Given the description of an element on the screen output the (x, y) to click on. 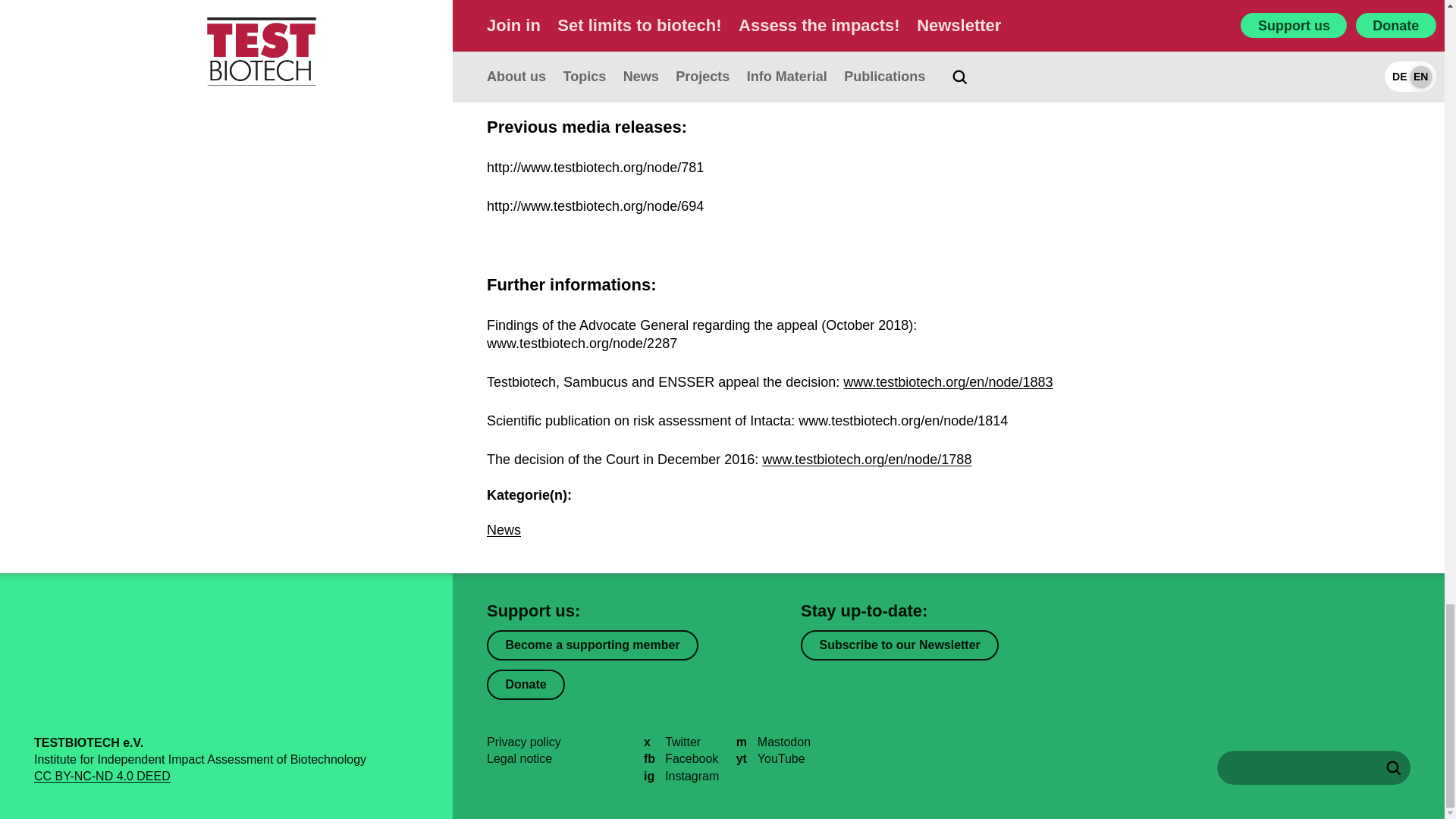
News (503, 529)
